Given the description of an element on the screen output the (x, y) to click on. 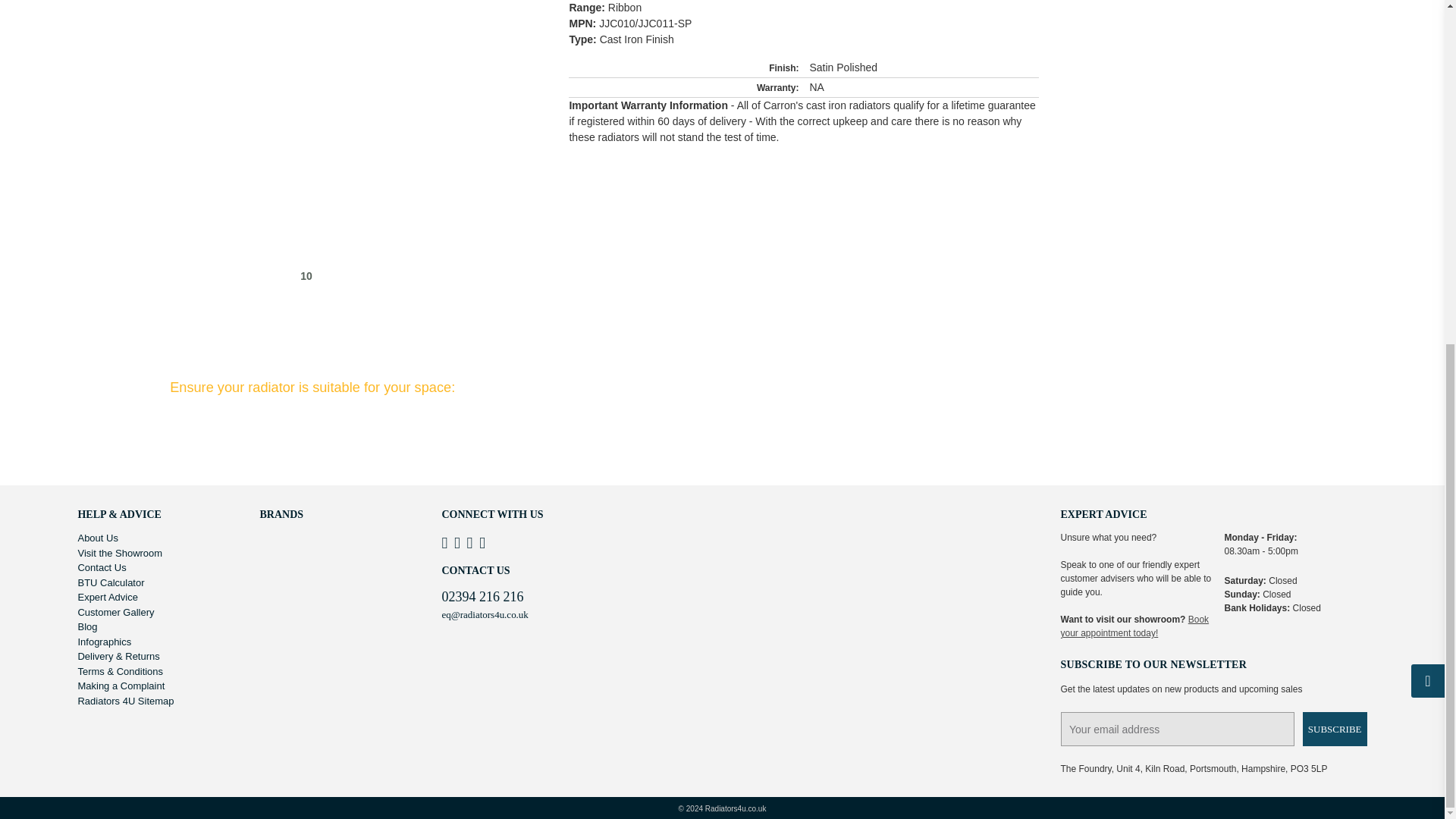
Subscribe (1335, 728)
